Given the description of an element on the screen output the (x, y) to click on. 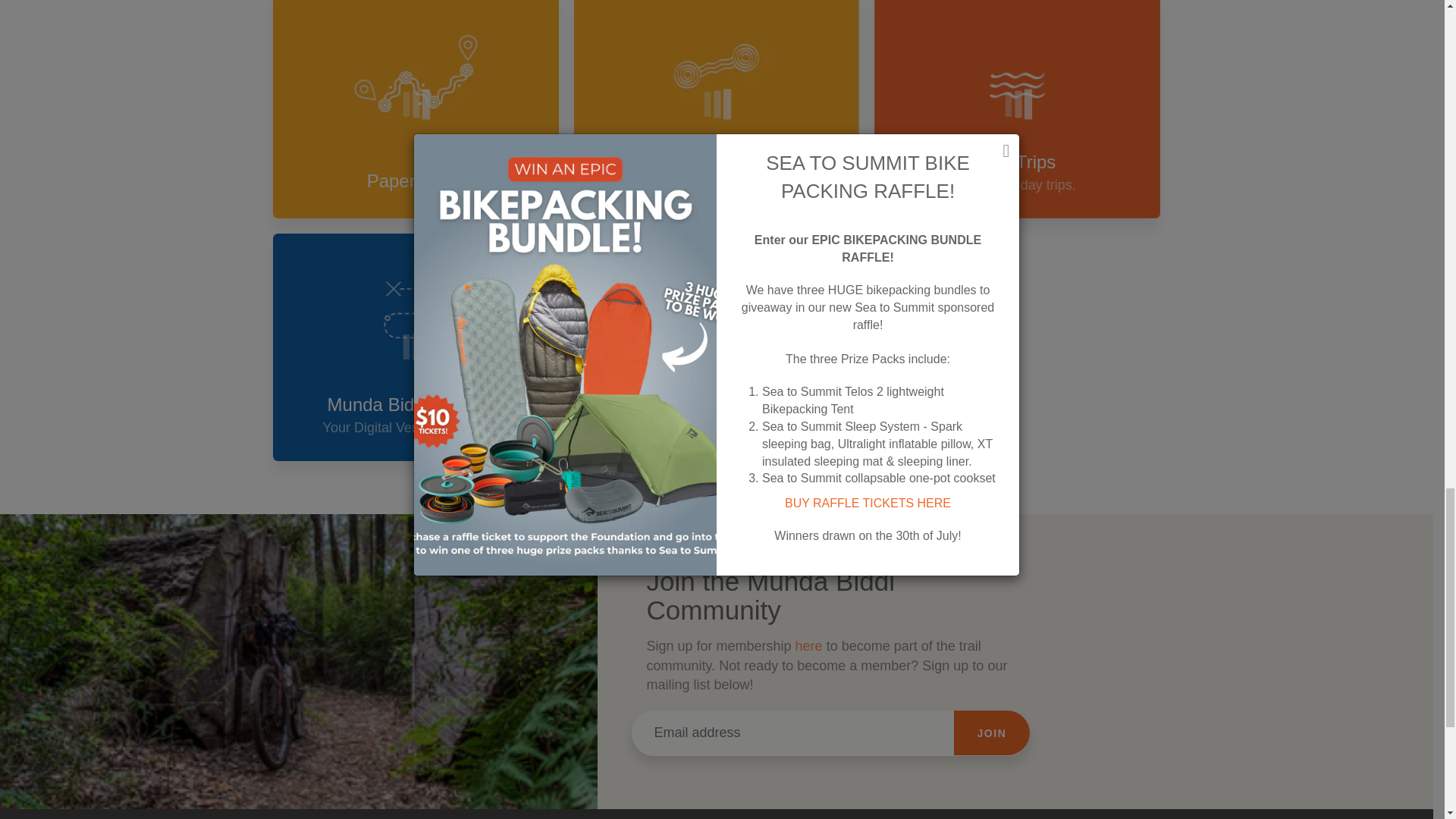
Paper Maps (416, 109)
E2E Trips (716, 109)
Munda Biddi Trail App (416, 347)
Day Trips (1017, 109)
